Given the description of an element on the screen output the (x, y) to click on. 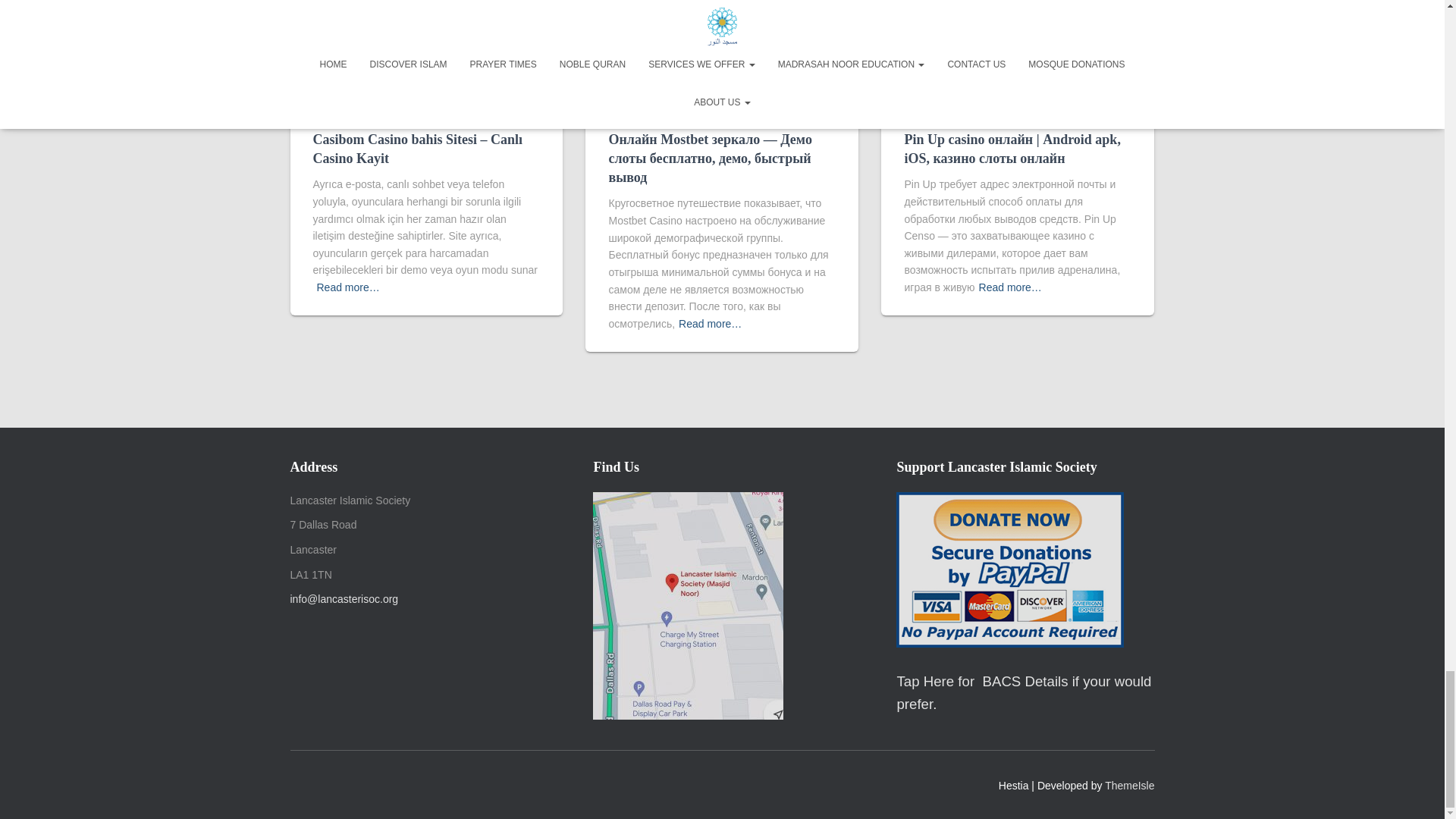
UNCATEGORIZED (942, 113)
UNCATEGORIZED (351, 113)
Tap Here for  BACS Details if your would prefer.  (1023, 693)
UNCATEGORIZED (646, 113)
ThemeIsle (1129, 785)
